Given the description of an element on the screen output the (x, y) to click on. 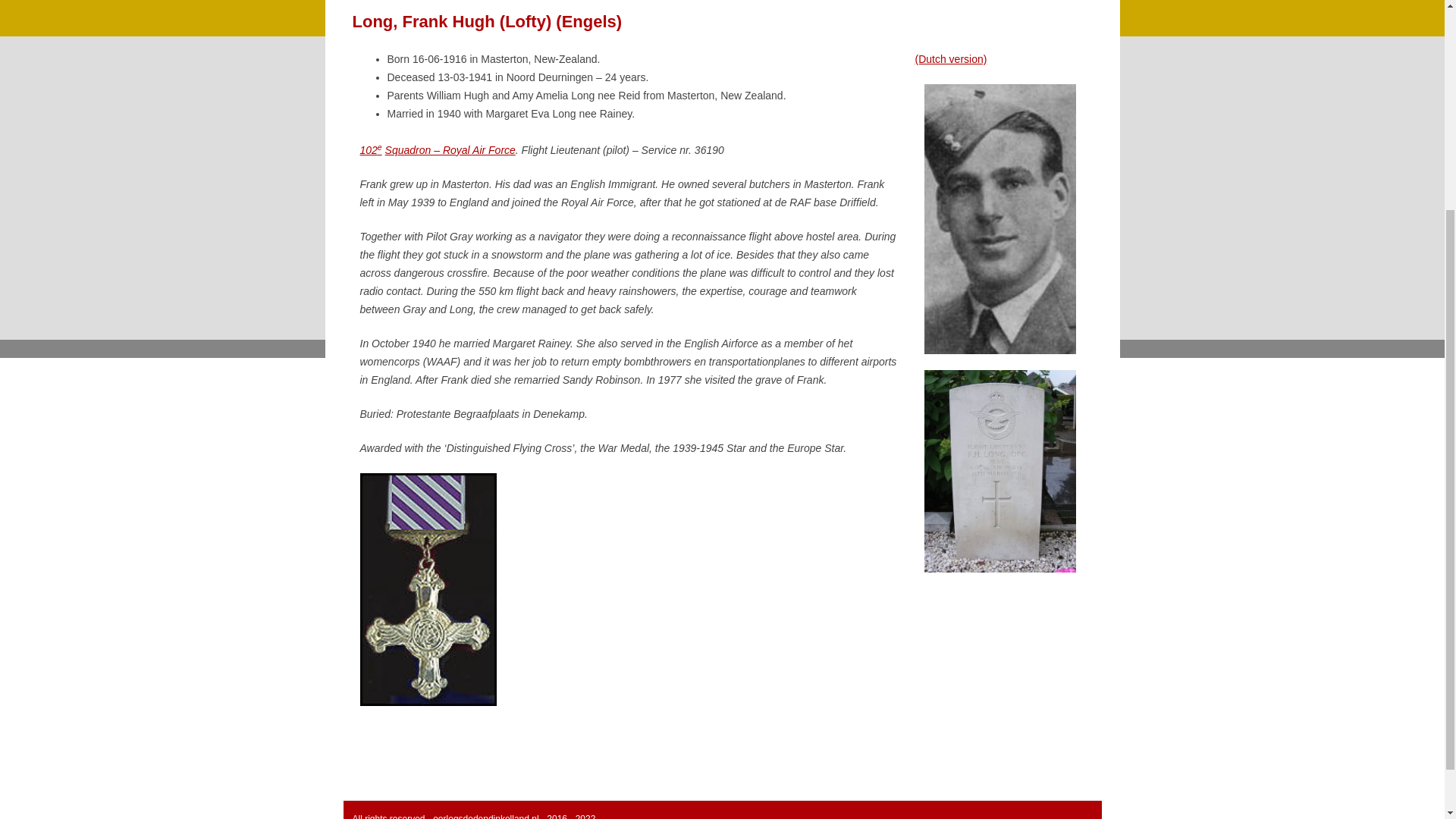
102e (370, 150)
